Given the description of an element on the screen output the (x, y) to click on. 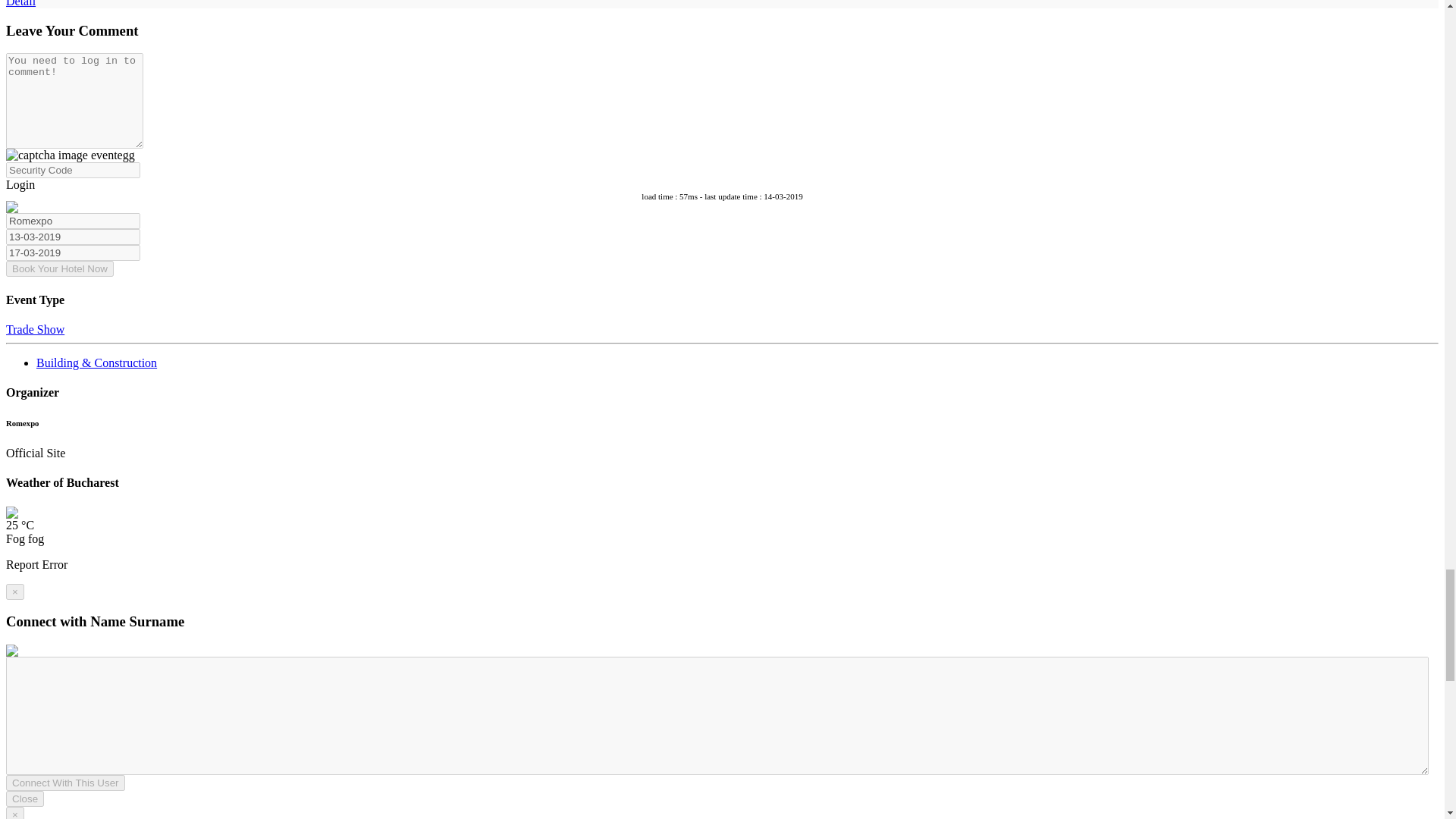
Romexpo (72, 220)
17-03-2019 (72, 252)
13-03-2019 (72, 236)
